Given the description of an element on the screen output the (x, y) to click on. 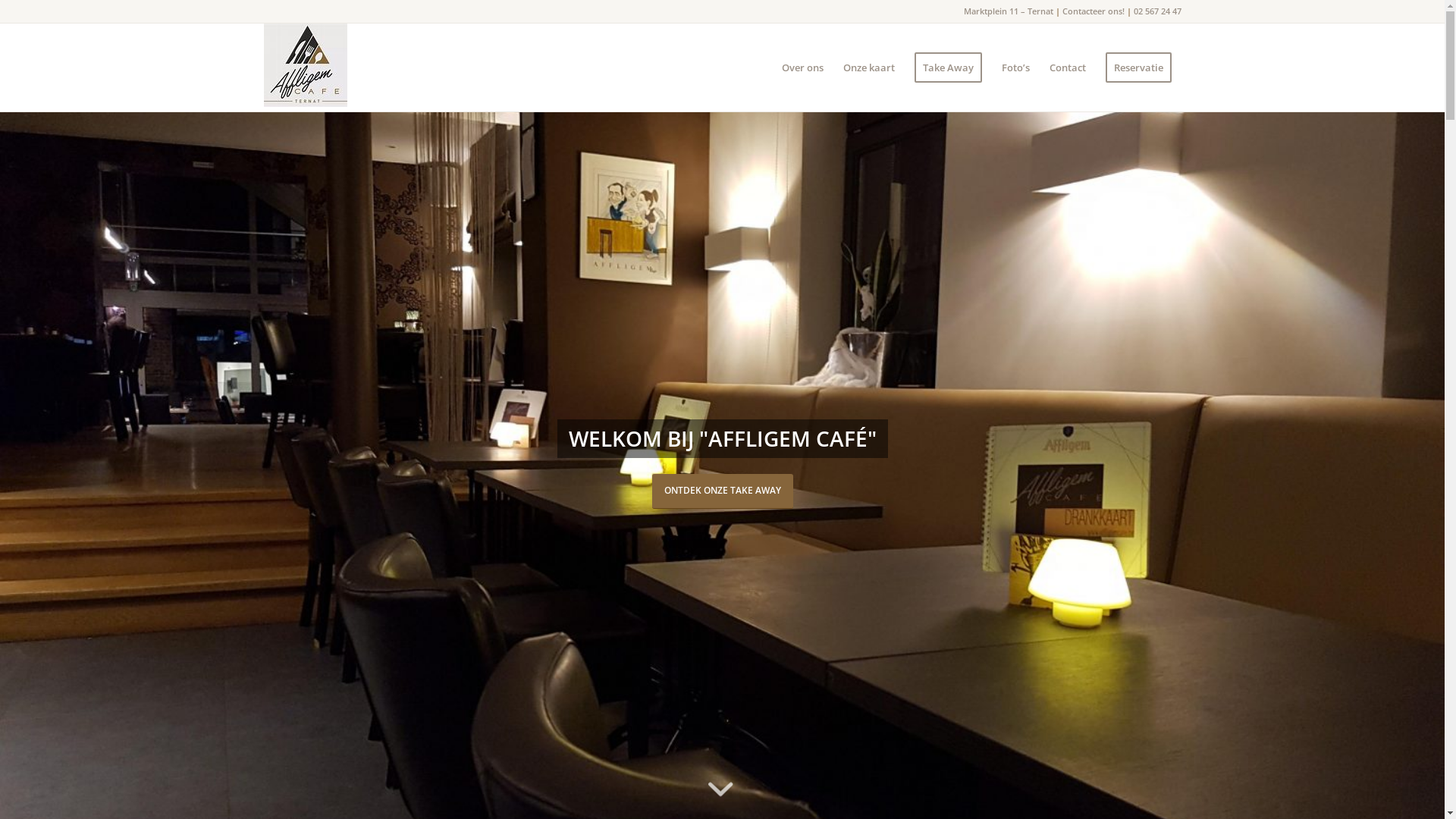
Over ons Element type: text (802, 67)
Contact Element type: text (1066, 67)
Contacteer ons! Element type: text (1092, 10)
02 567 24 47 Element type: text (1156, 10)
Take Away Element type: text (947, 67)
Reservatie Element type: text (1137, 67)
Onze kaart Element type: text (867, 67)
ONTDEK ONZE TAKE AWAY Element type: text (722, 490)
